Given the description of an element on the screen output the (x, y) to click on. 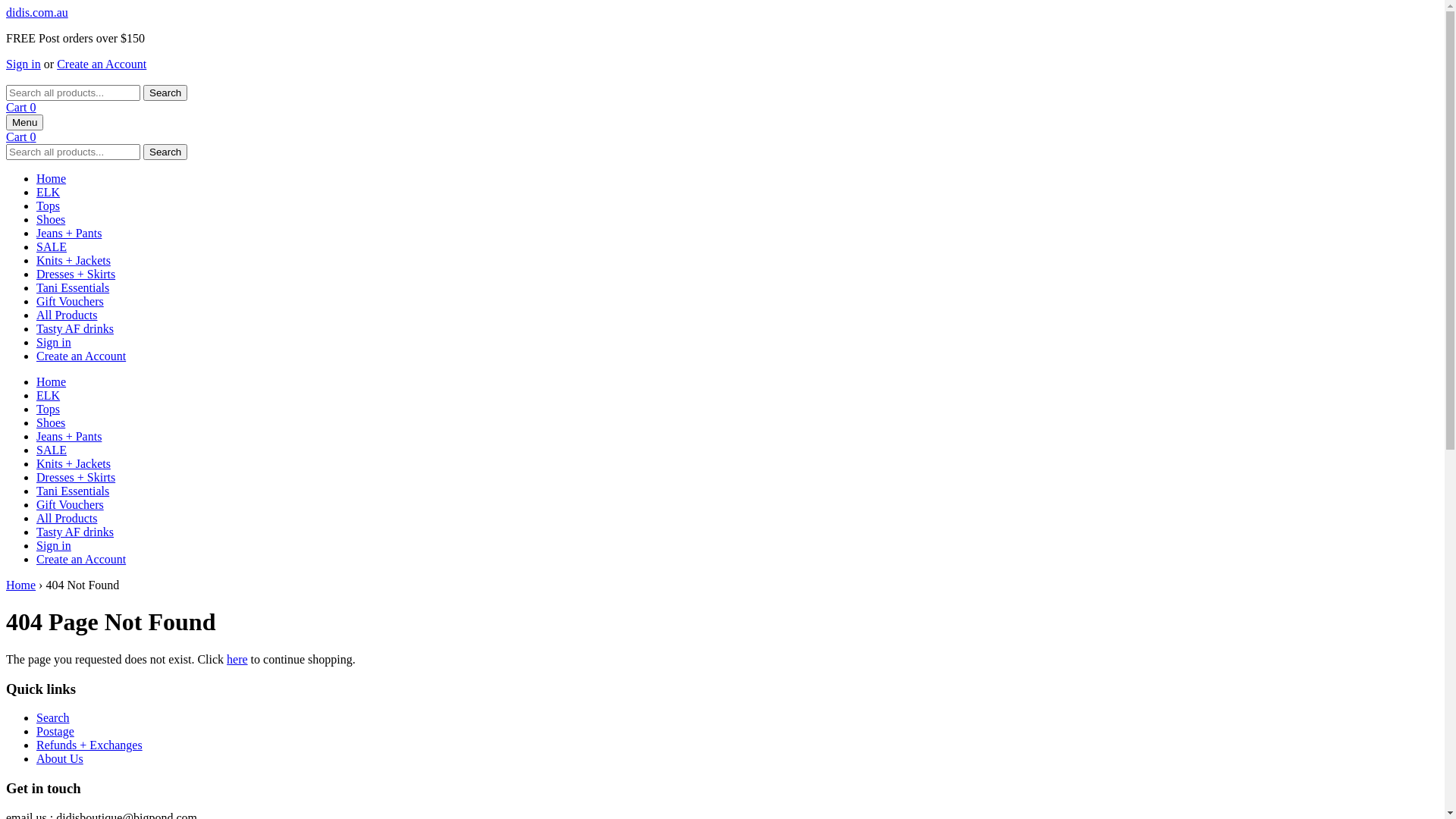
Create an Account Element type: text (101, 63)
Tani Essentials Element type: text (72, 490)
Tani Essentials Element type: text (72, 287)
Jeans + Pants Element type: text (68, 435)
Dresses + Skirts Element type: text (75, 273)
Cart 0 Element type: text (21, 136)
ELK Element type: text (47, 191)
About Us Element type: text (59, 758)
Shoes Element type: text (50, 422)
Search Element type: text (165, 152)
Home Element type: text (50, 178)
Tasty AF drinks Element type: text (74, 531)
SALE Element type: text (51, 246)
SALE Element type: text (51, 449)
ELK Element type: text (47, 395)
All Products Element type: text (66, 517)
Home Element type: text (20, 584)
Create an Account Element type: text (80, 558)
Knits + Jackets Element type: text (73, 260)
Sign in Element type: text (53, 545)
Search Element type: text (165, 92)
Jeans + Pants Element type: text (68, 232)
Menu Element type: text (24, 122)
Sign in Element type: text (53, 341)
Sign in Element type: text (23, 63)
Home Element type: text (50, 381)
Shoes Element type: text (50, 219)
All Products Element type: text (66, 314)
Refunds + Exchanges Element type: text (89, 744)
Tasty AF drinks Element type: text (74, 328)
Dresses + Skirts Element type: text (75, 476)
Cart 0 Element type: text (21, 106)
Tops Element type: text (47, 408)
Create an Account Element type: text (80, 355)
Gift Vouchers Element type: text (69, 300)
Search Element type: text (52, 717)
Gift Vouchers Element type: text (69, 504)
Knits + Jackets Element type: text (73, 463)
here Element type: text (236, 658)
Tops Element type: text (47, 205)
Postage Element type: text (55, 730)
didis.com.au Element type: text (37, 12)
